Given the description of an element on the screen output the (x, y) to click on. 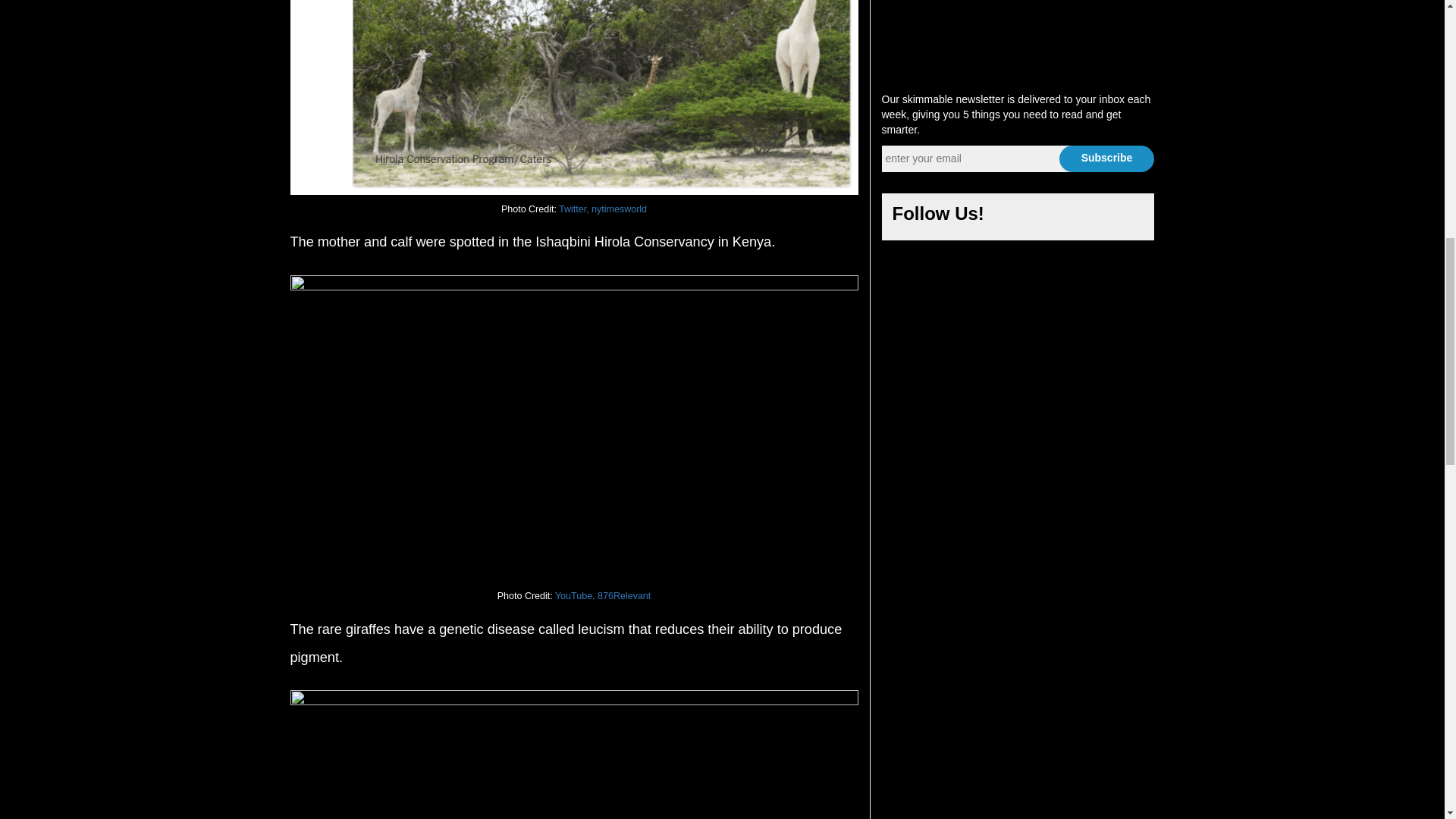
Facebook (1018, 217)
Instagram (1091, 217)
Twitter, nytimesworld (602, 208)
Subscribe (1106, 158)
Tumblr (1127, 217)
YouTube, 876Relevant (602, 595)
Twitter (1054, 217)
